Given the description of an element on the screen output the (x, y) to click on. 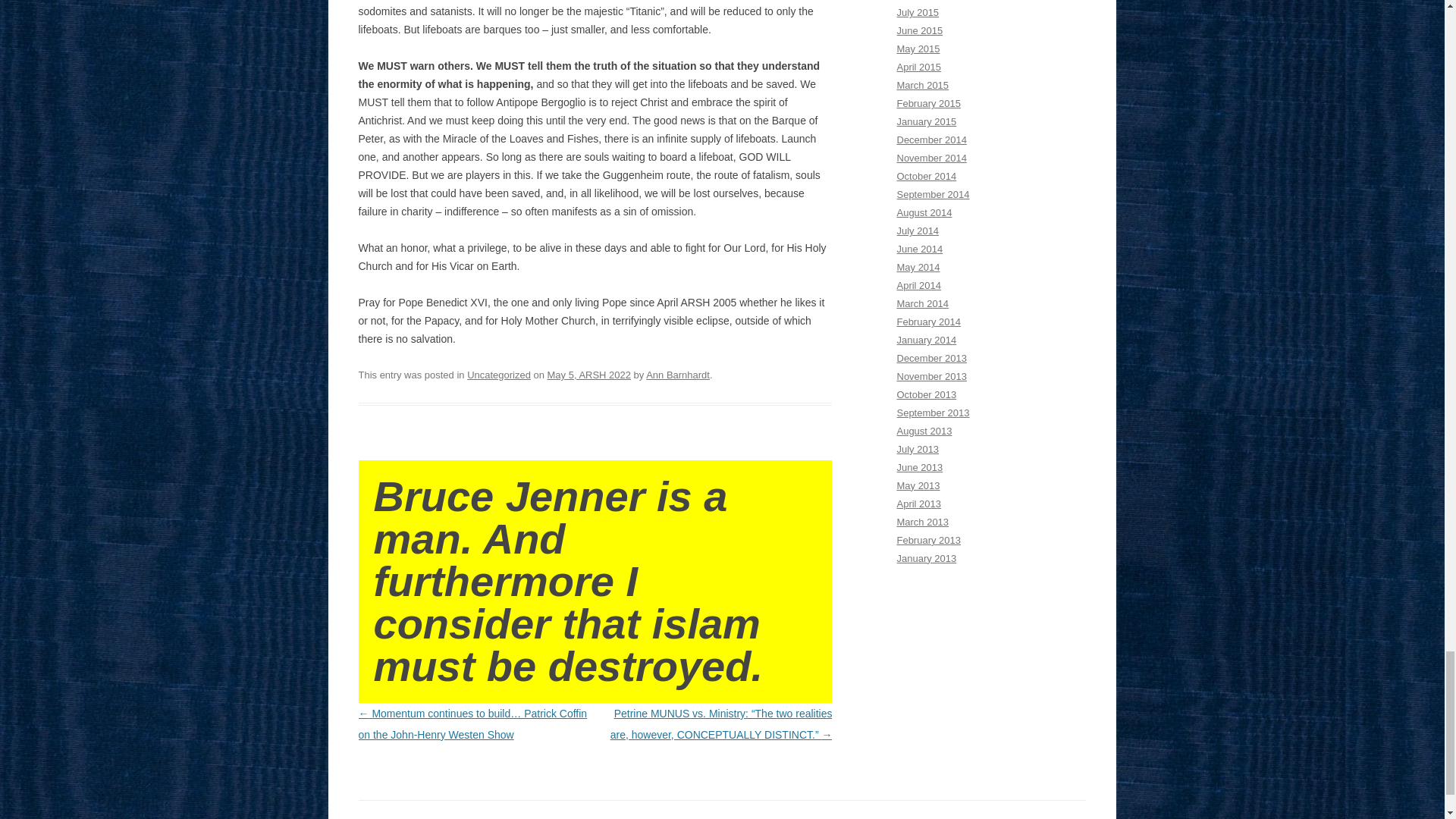
5:28 am (588, 374)
May 5, ARSH 2022 (588, 374)
Uncategorized (499, 374)
Ann Barnhardt (678, 374)
View all posts by Ann Barnhardt (678, 374)
